Given the description of an element on the screen output the (x, y) to click on. 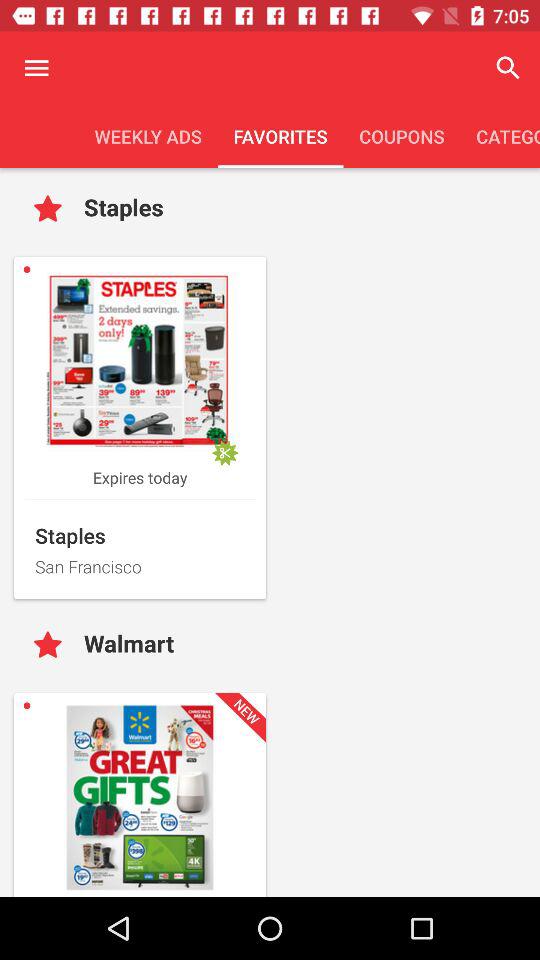
select and save your favorite advertisements (52, 645)
